Given the description of an element on the screen output the (x, y) to click on. 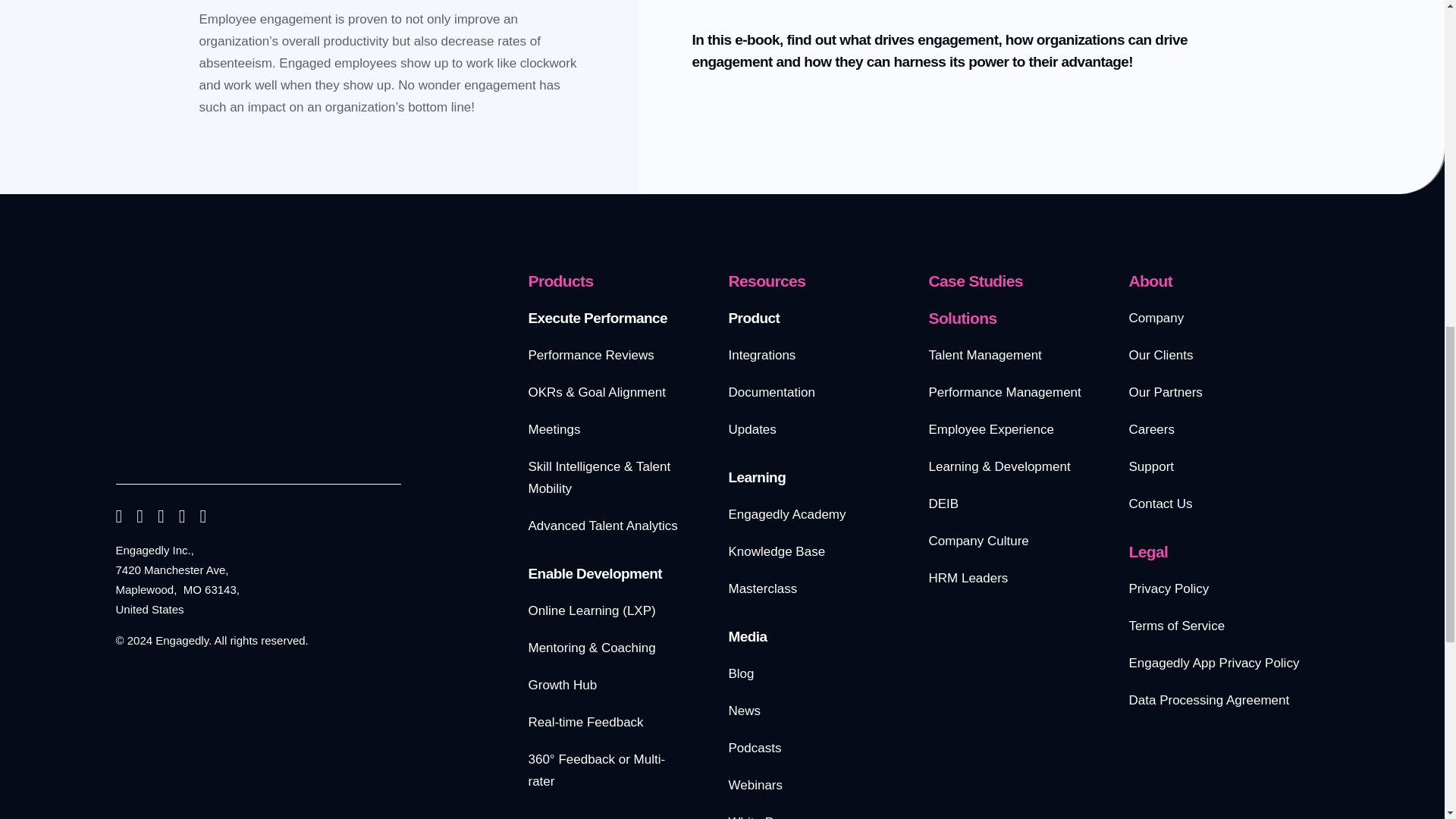
Talent Management (984, 355)
Performance Management (1004, 391)
Masterclass (762, 588)
Webinars (755, 785)
News (744, 710)
Employee Experience (990, 429)
Advanced Talent Analytics (602, 525)
Integrations (761, 355)
Updates (752, 429)
Growth Hub (561, 685)
Engagedly Academy (786, 513)
Performance Reviews (590, 355)
White Papers (766, 816)
Real-time Feedback (585, 721)
Podcasts (754, 748)
